Given the description of an element on the screen output the (x, y) to click on. 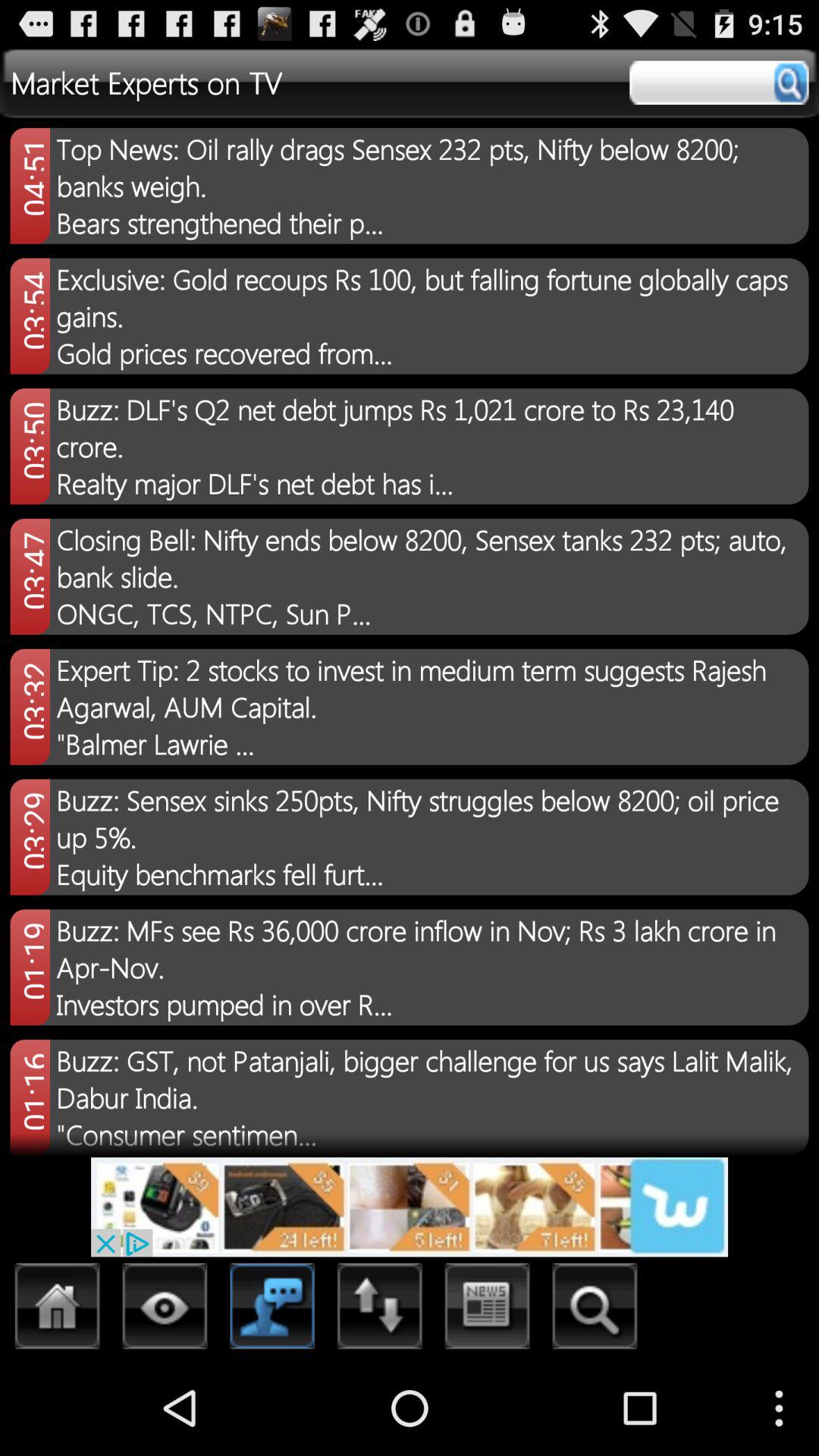
go to home (57, 1310)
